Given the description of an element on the screen output the (x, y) to click on. 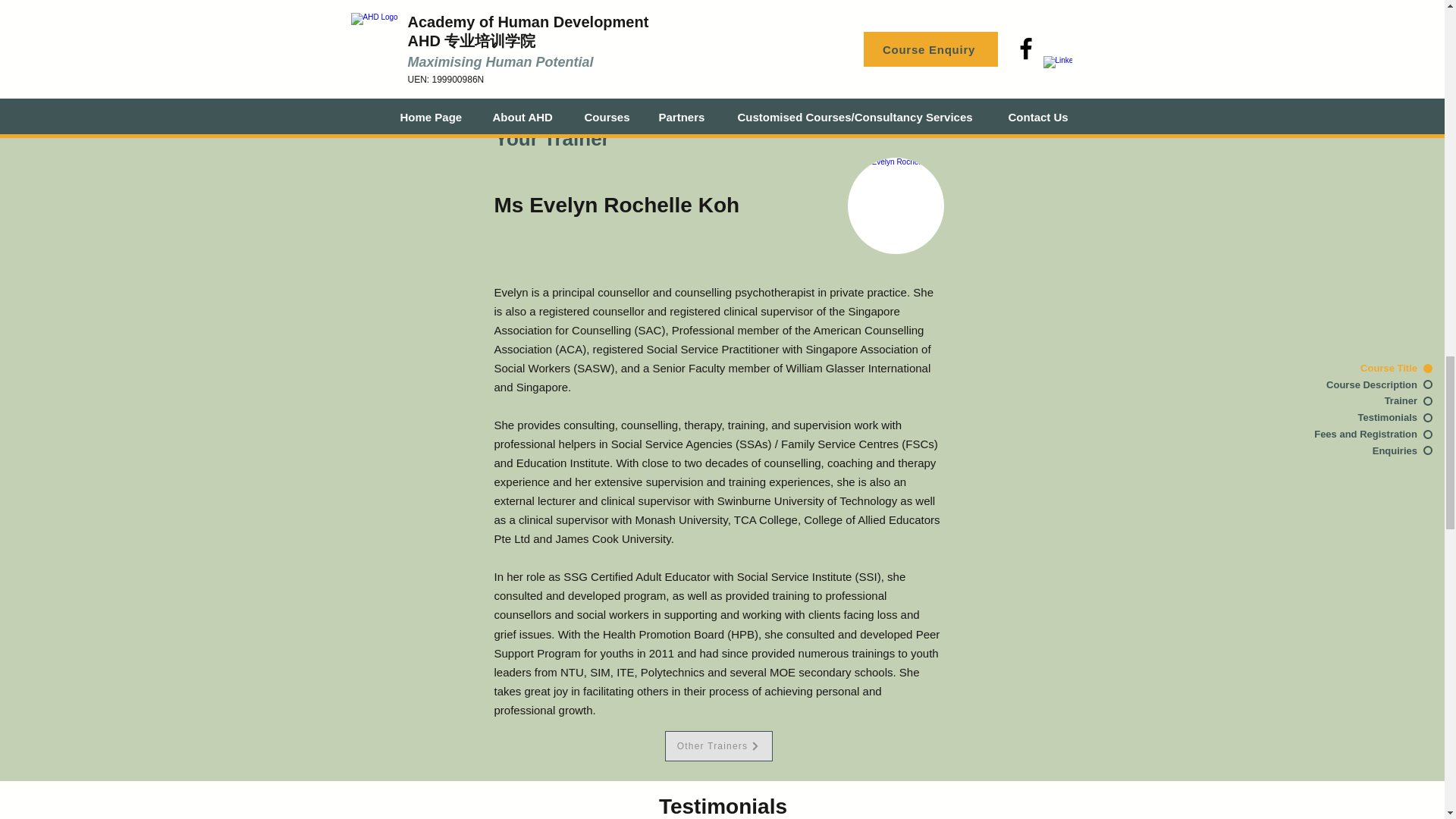
Ms Evelyn Rochelle Koh (895, 205)
